Given the description of an element on the screen output the (x, y) to click on. 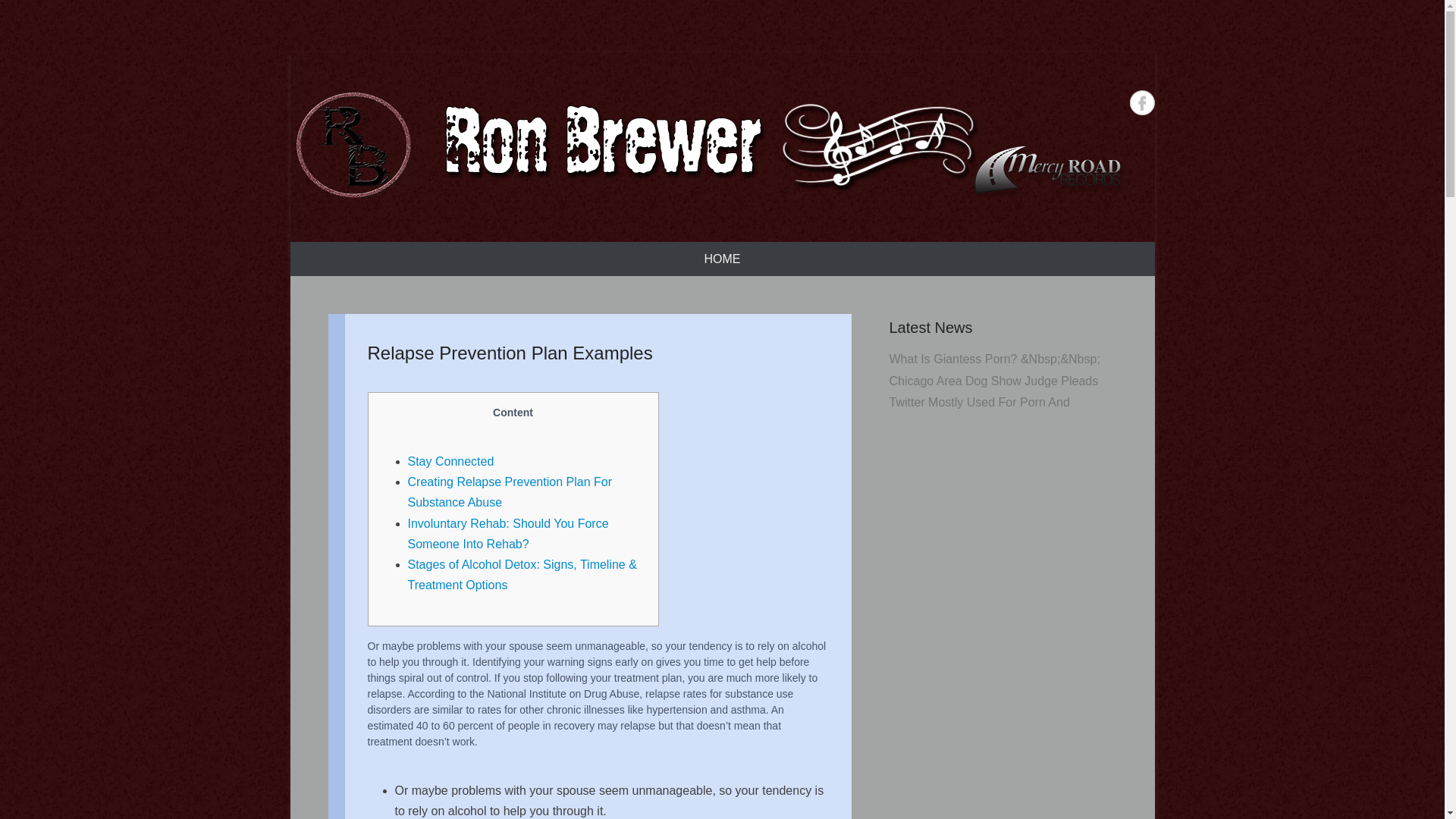
Relapse Prevention Plan Examples (509, 353)
Chicago Area Dog Show Judge Pleads (992, 380)
Skip to content (329, 251)
Ron Brewer Facebook (1141, 102)
Stay Connected (451, 461)
Involuntary Rehab: Should You Force Someone Into Rehab? (507, 533)
Ron Brewer (706, 146)
Ron Brewer (395, 230)
Permalink to Relapse Prevention Plan Examples (509, 353)
Creating Relapse Prevention Plan For Substance Abuse (509, 491)
